Given the description of an element on the screen output the (x, y) to click on. 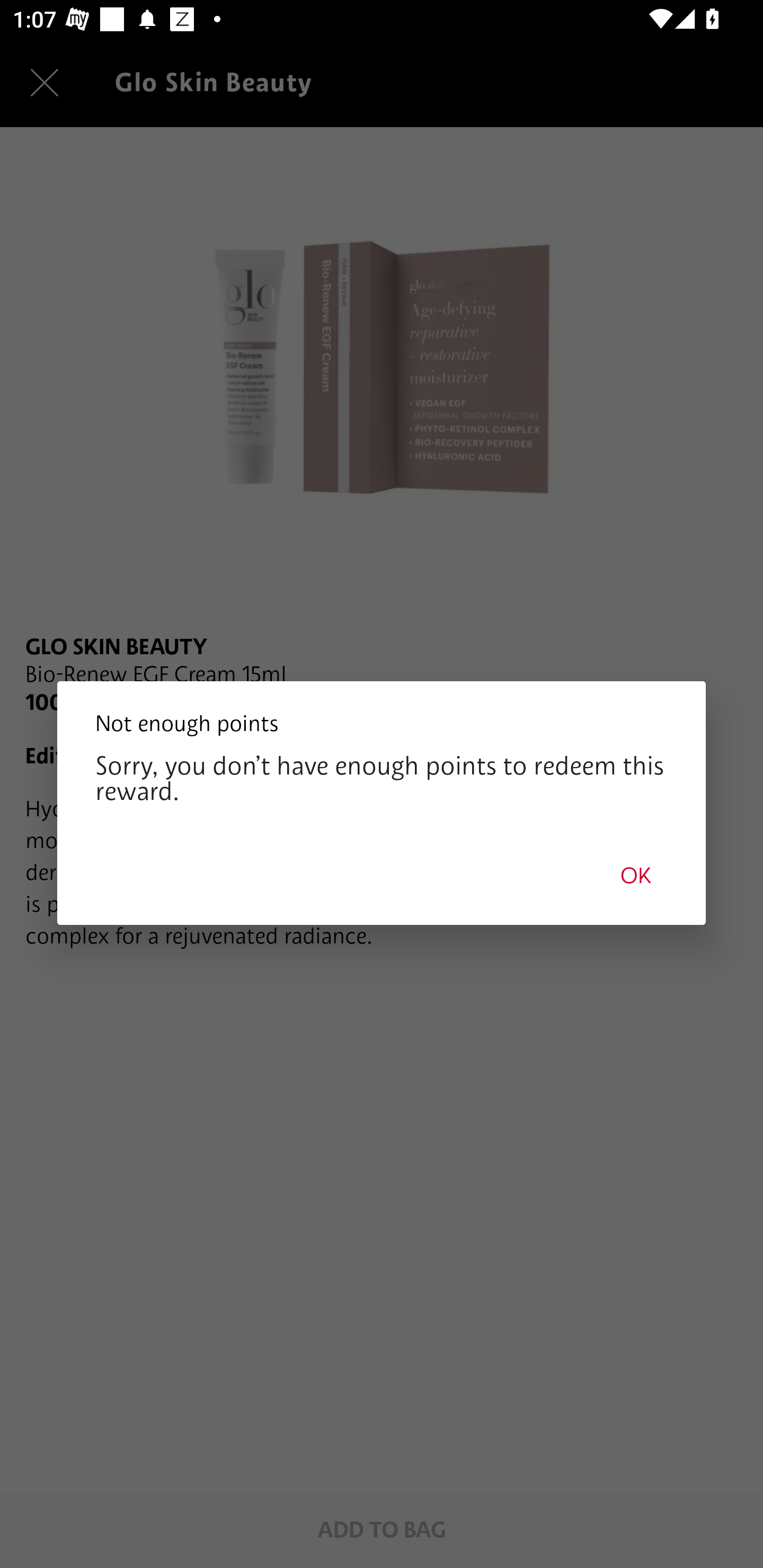
OK (635, 875)
